Given the description of an element on the screen output the (x, y) to click on. 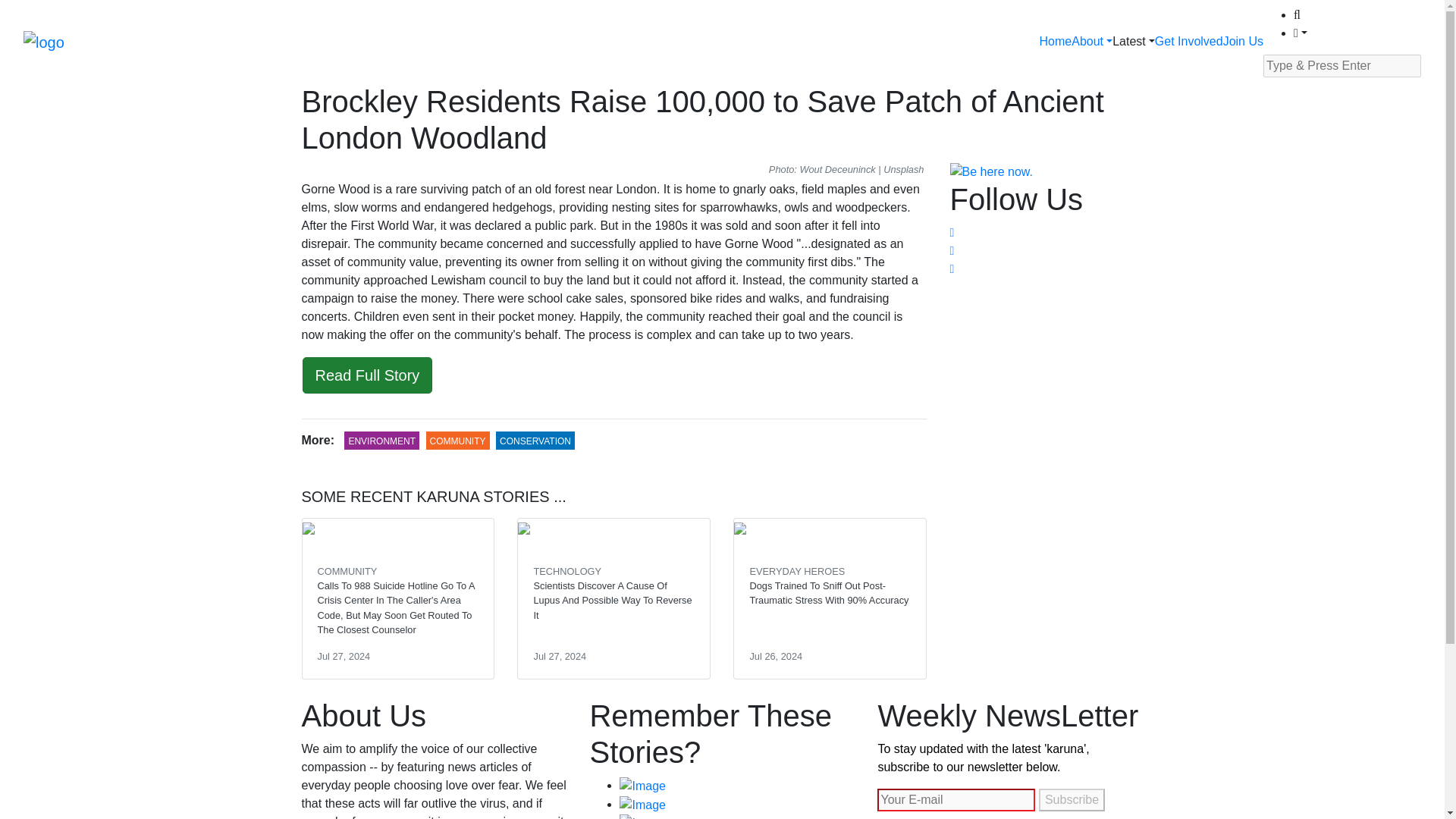
COMMUNITY (457, 440)
COMMUNITY (347, 571)
Home (1055, 41)
Read Full Story (366, 375)
Get Involved (1188, 41)
CONSERVATION (534, 440)
Join Us (1243, 41)
About (1091, 41)
TECHNOLOGY (566, 571)
Latest (1133, 41)
ENVIRONMENT (380, 440)
